Given the description of an element on the screen output the (x, y) to click on. 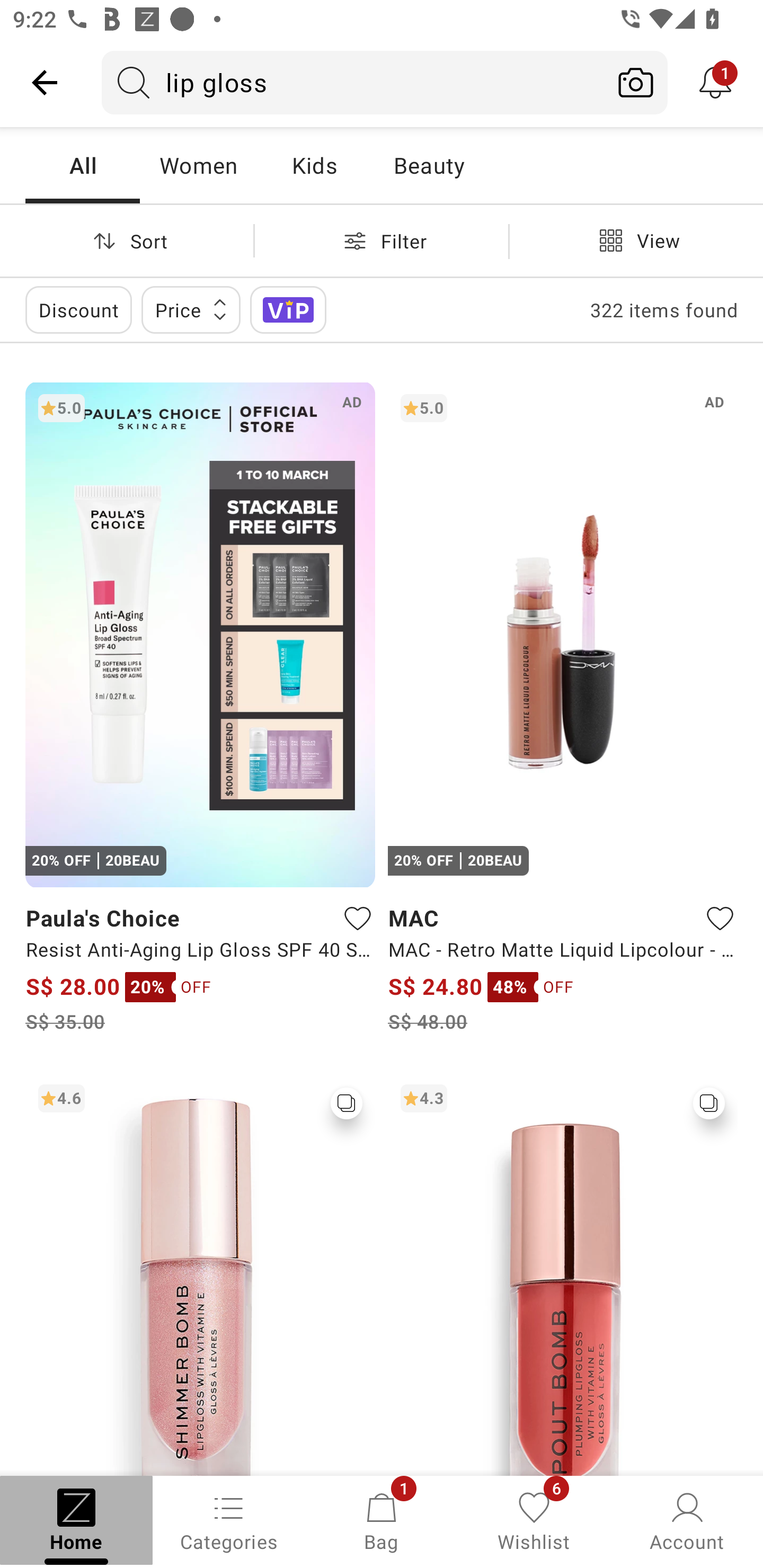
Navigate up (44, 82)
lip gloss (352, 82)
Women (198, 165)
Kids (314, 165)
Beauty (428, 165)
Sort (126, 240)
Filter (381, 240)
View (636, 240)
Discount (78, 309)
Price (190, 309)
4.6 (200, 1272)
4.3 (562, 1272)
Categories (228, 1519)
Bag, 1 new notification Bag (381, 1519)
Wishlist, 6 new notifications Wishlist (533, 1519)
Account (686, 1519)
